Given the description of an element on the screen output the (x, y) to click on. 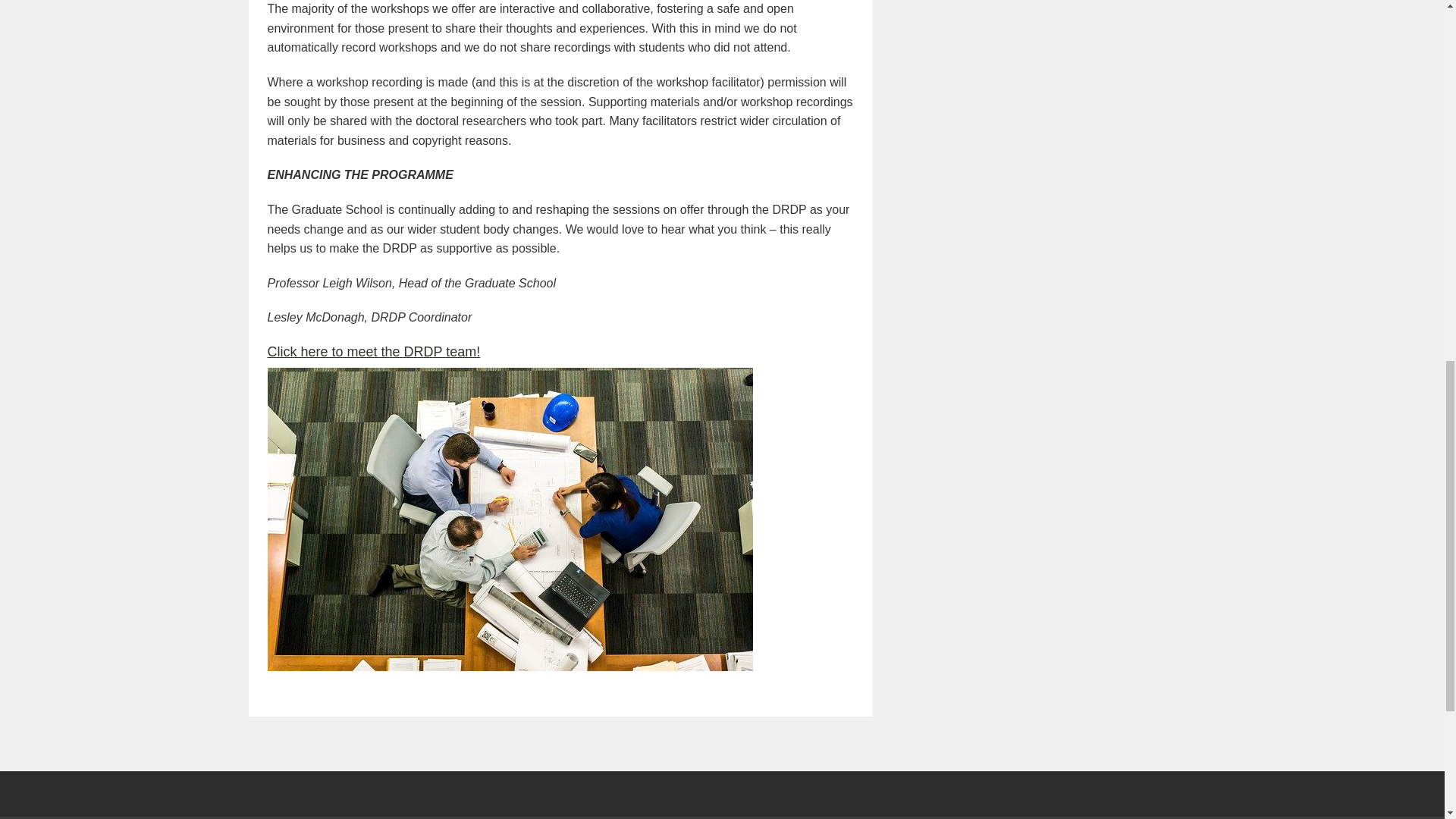
Click here to meet the DRDP team! (373, 351)
